Given the description of an element on the screen output the (x, y) to click on. 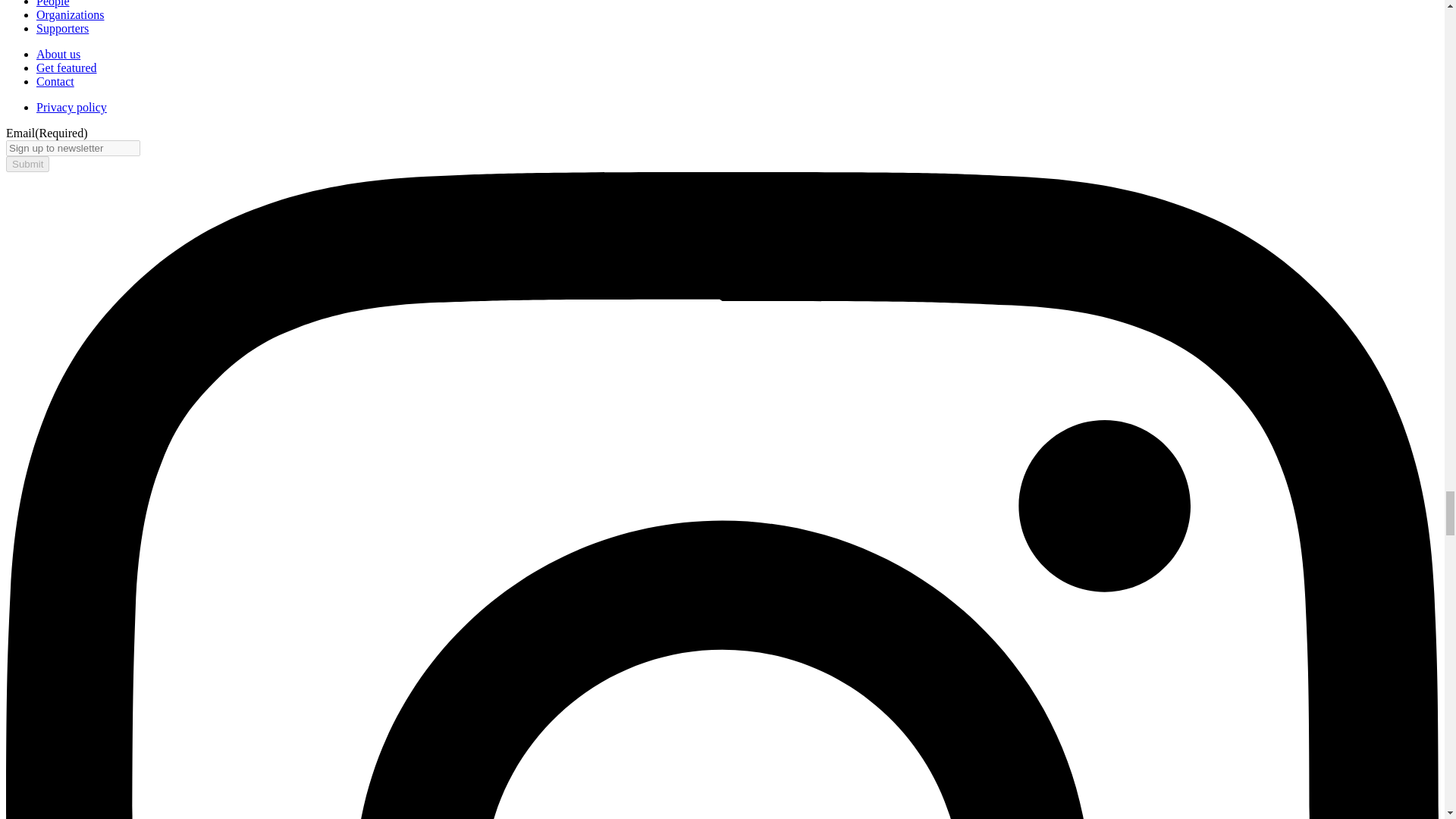
Get featured (66, 67)
People (52, 3)
Submit (27, 163)
About us (58, 53)
Organizations (69, 14)
Privacy policy (71, 106)
Contact (55, 81)
Supporters (62, 28)
